Given the description of an element on the screen output the (x, y) to click on. 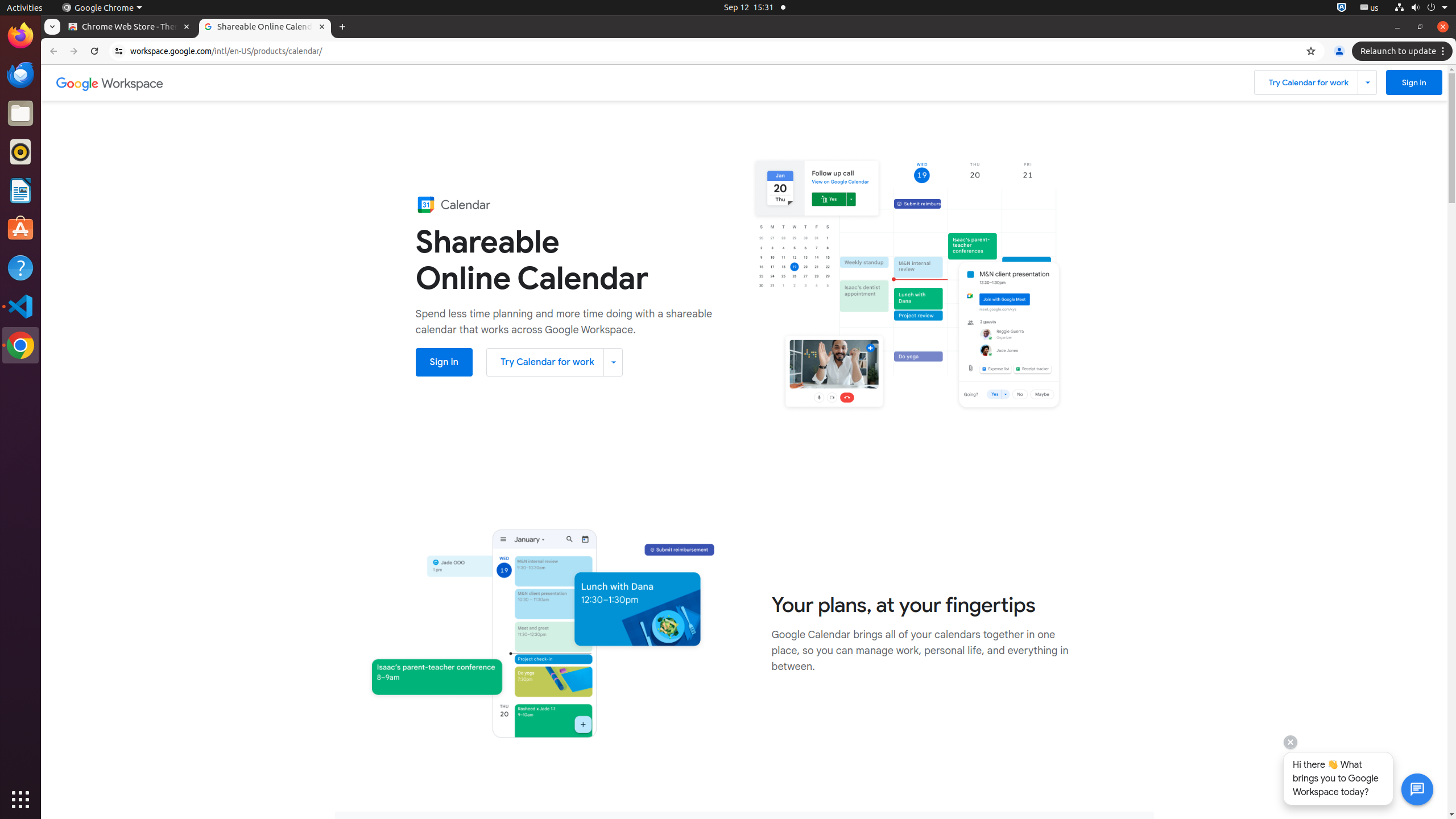
:1.72/StatusNotifierItem Element type: menu (1341, 7)
Show Applications Element type: toggle-button (20, 799)
Google Chrome Element type: menu (101, 7)
Relaunch to update Element type: push-button (1403, 50)
New Tab Element type: push-button (342, 26)
